Given the description of an element on the screen output the (x, y) to click on. 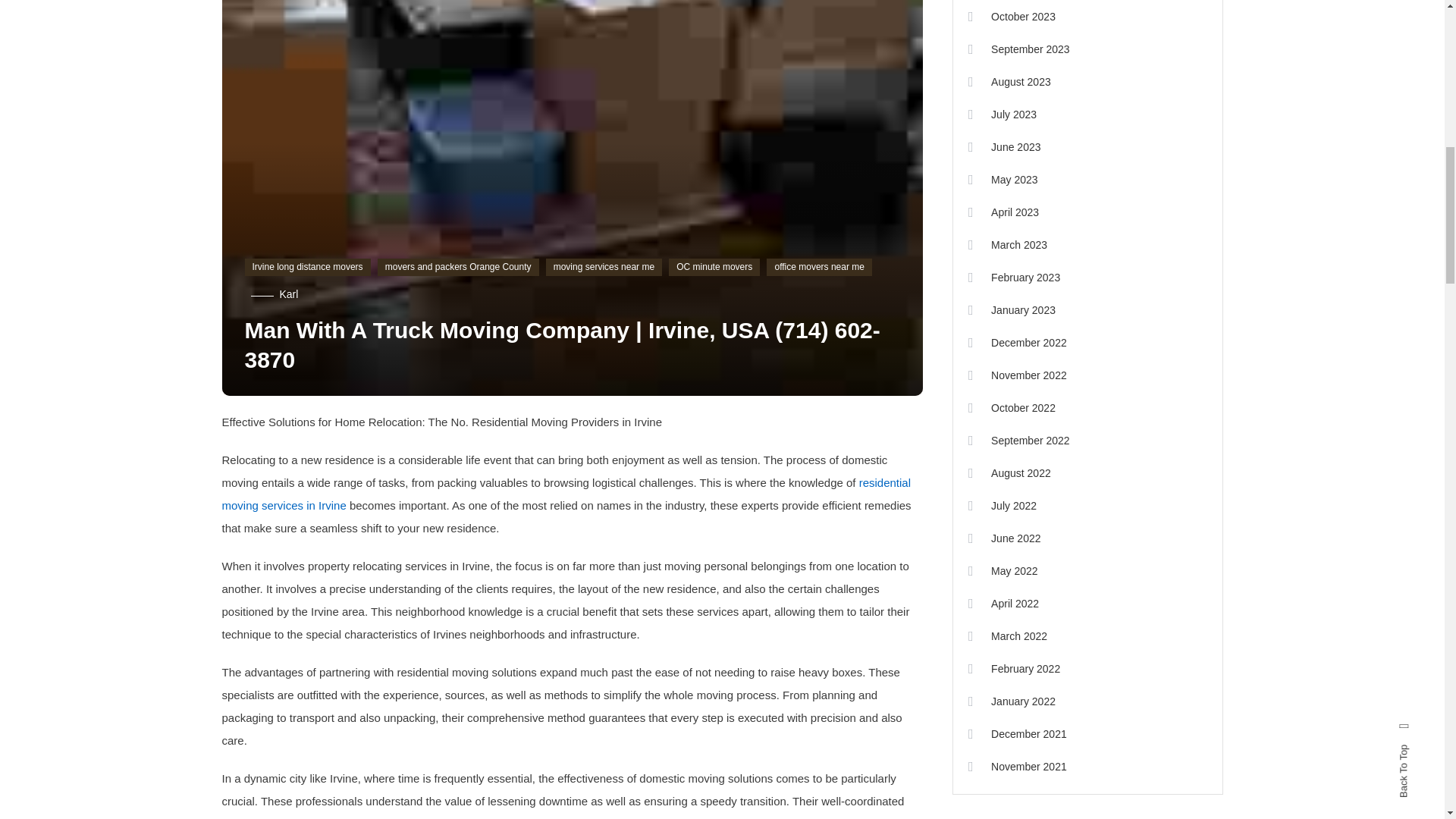
moving services near me (604, 267)
OC minute movers (714, 267)
movers and packers Orange County (457, 267)
Irvine long distance movers (306, 267)
